Given the description of an element on the screen output the (x, y) to click on. 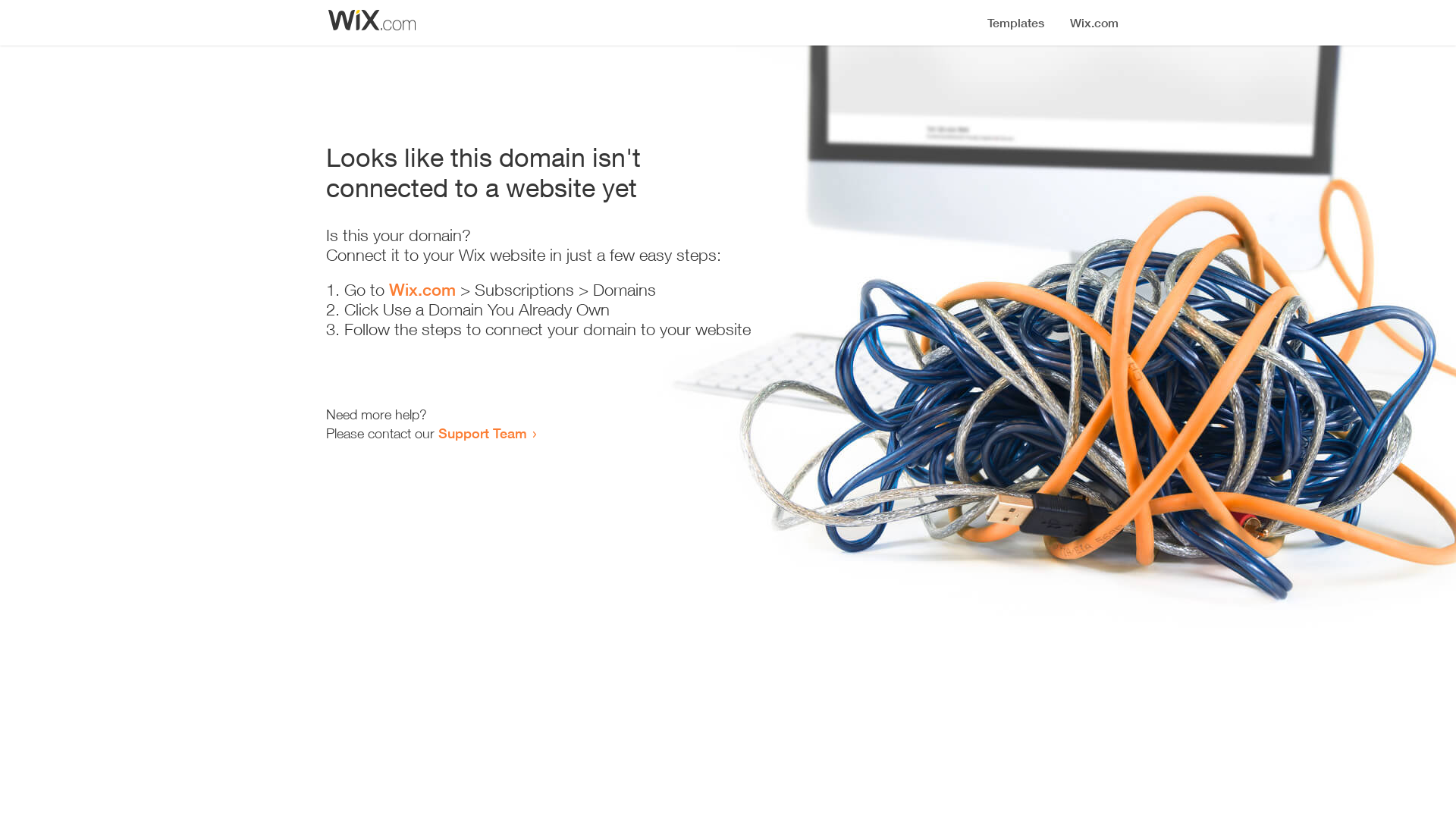
Support Team Element type: text (482, 432)
Wix.com Element type: text (422, 289)
